Given the description of an element on the screen output the (x, y) to click on. 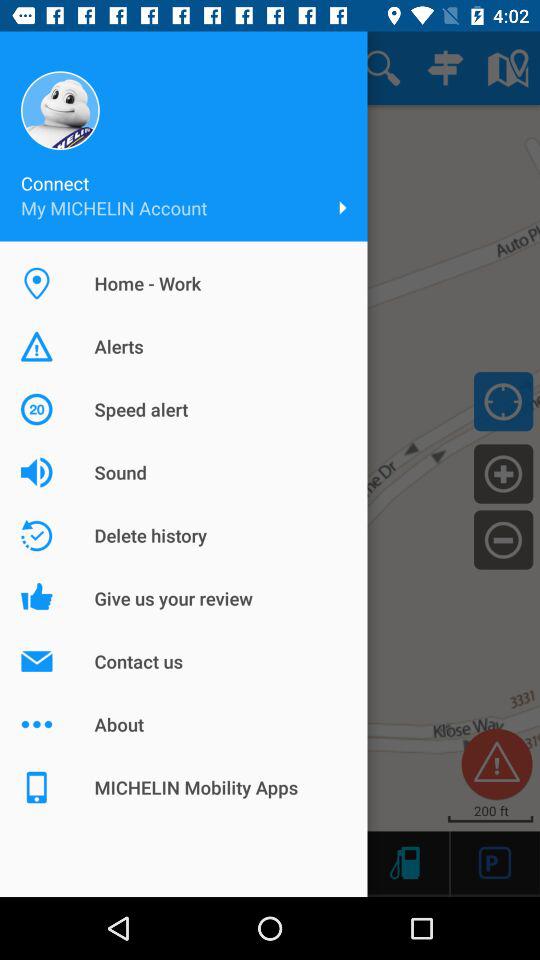
zoom in (503, 473)
